Given the description of an element on the screen output the (x, y) to click on. 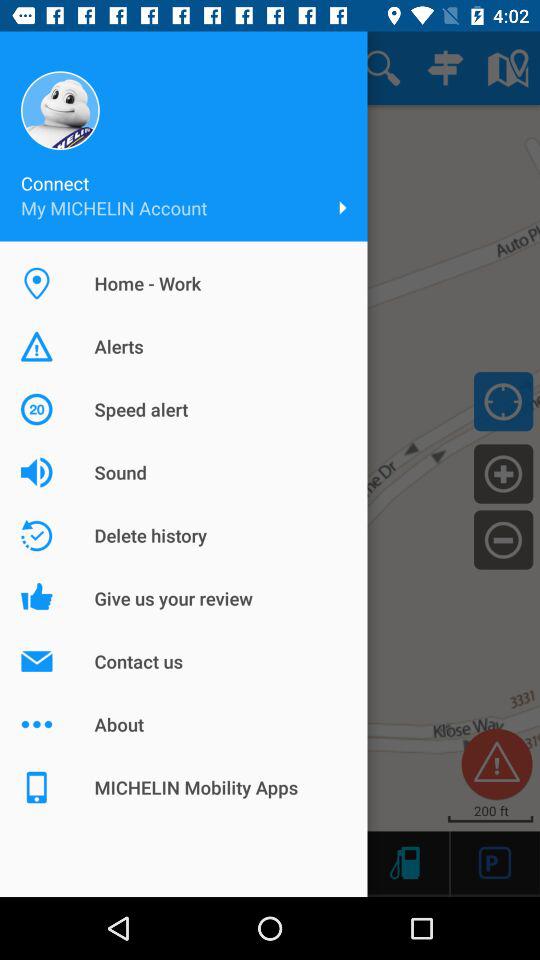
zoom in (503, 473)
